Given the description of an element on the screen output the (x, y) to click on. 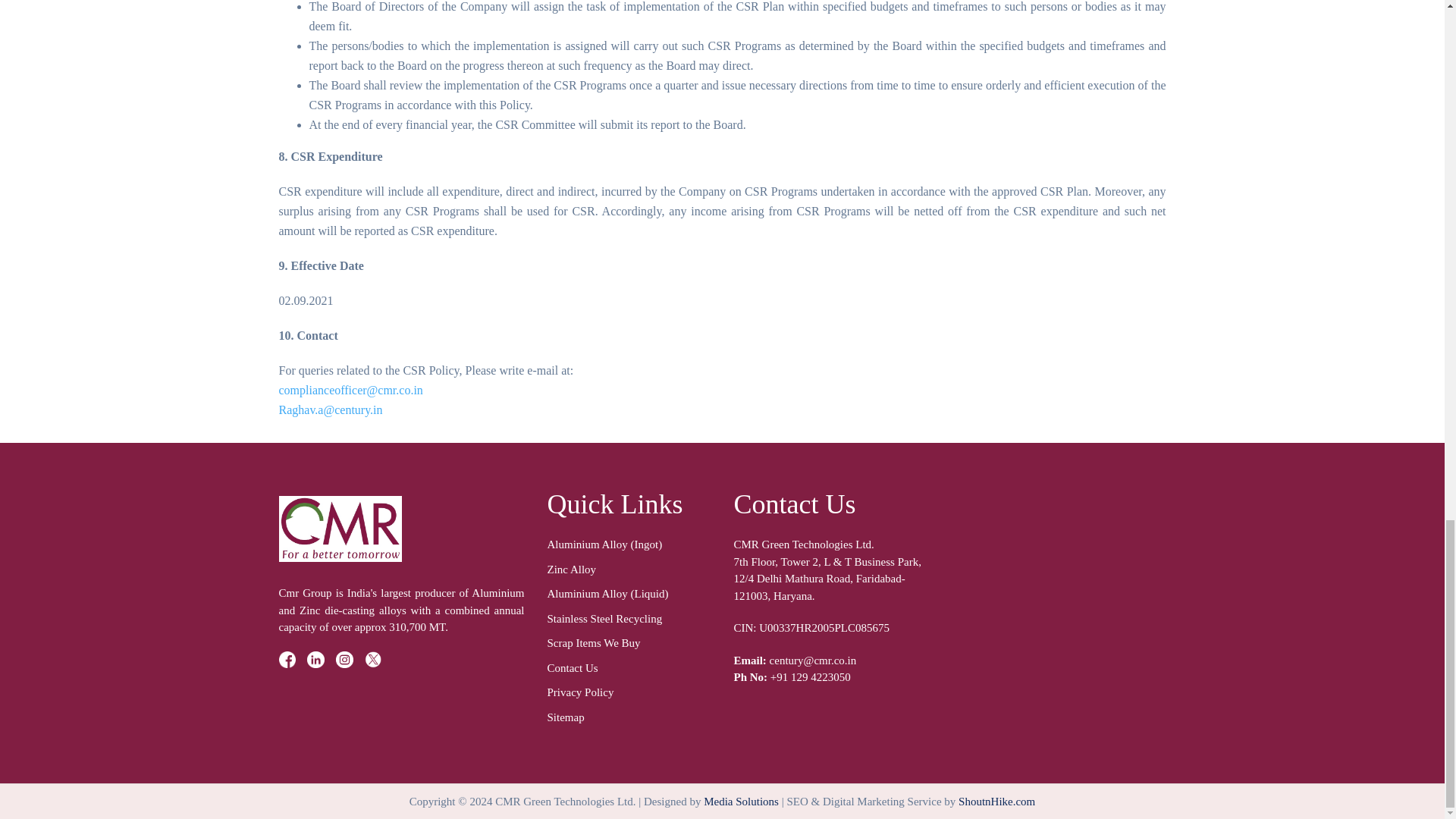
Linkedin (315, 660)
Facebook (288, 660)
Instagram (344, 660)
Cmr Green Technologies Ltd. (340, 528)
Twitter (373, 660)
